Given the description of an element on the screen output the (x, y) to click on. 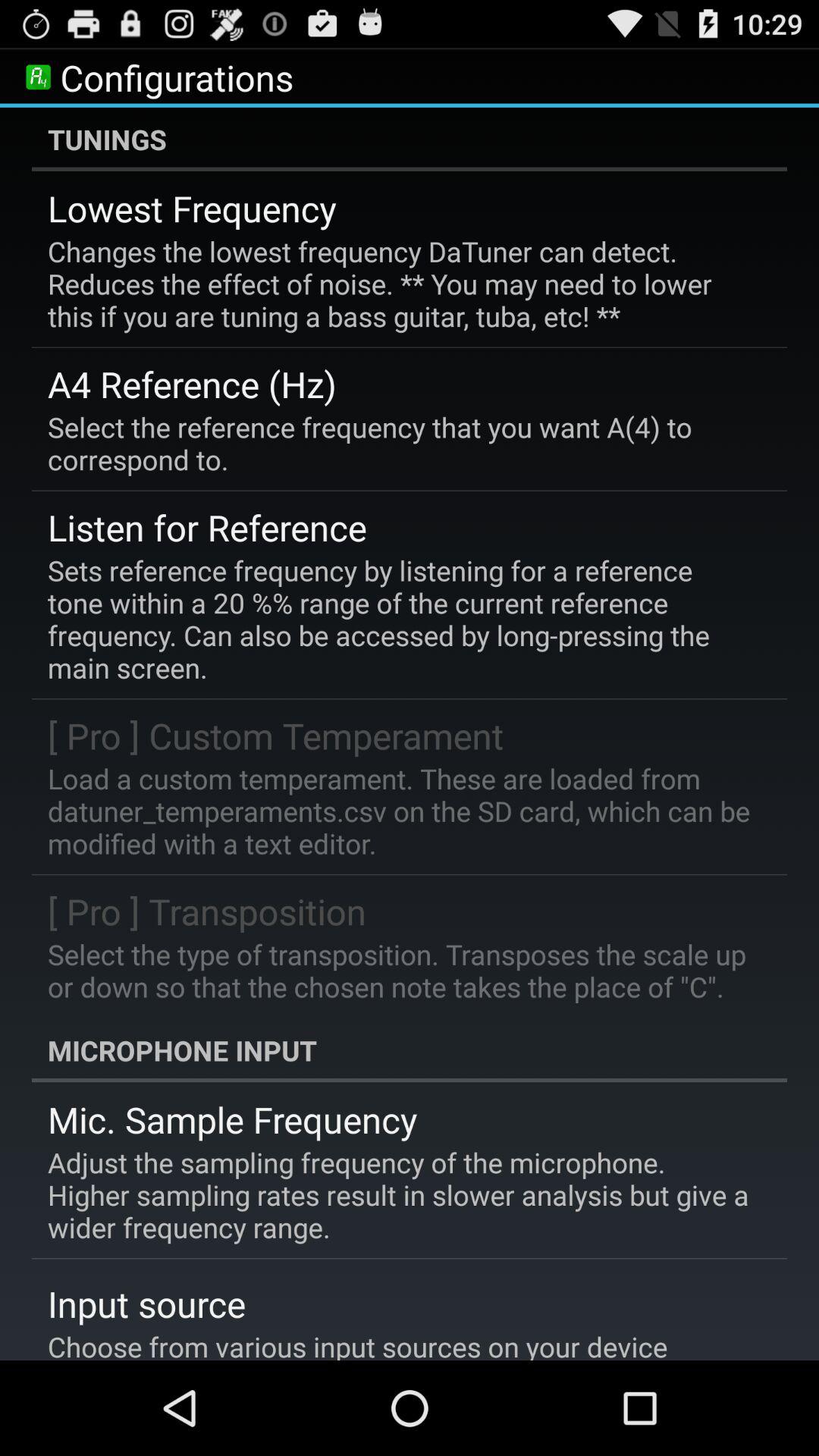
tap the tunings (409, 139)
